Given the description of an element on the screen output the (x, y) to click on. 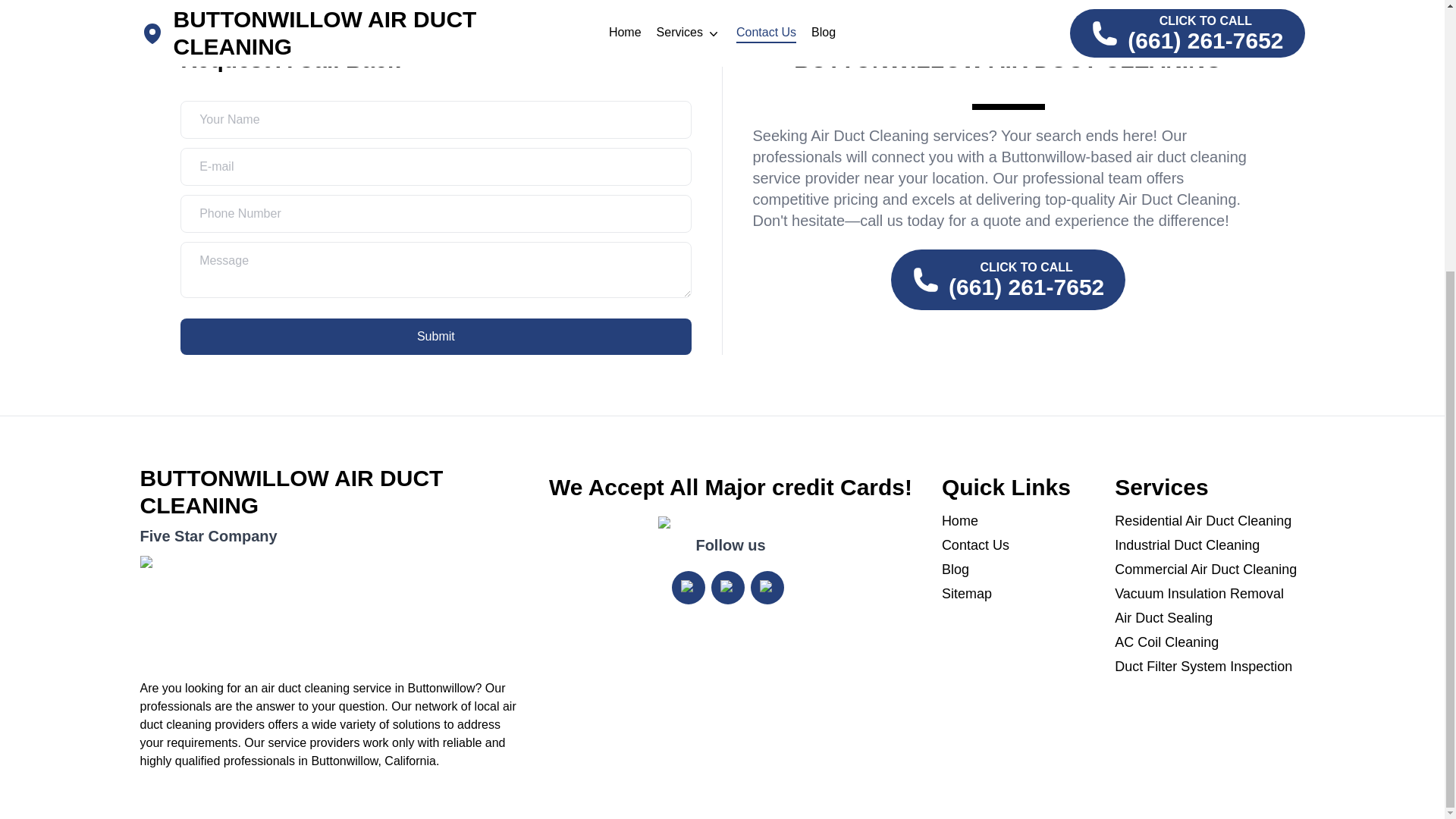
Vacuum Insulation Removal (1209, 593)
Click to call us (1008, 279)
AC Coil Cleaning (1209, 641)
Star Set Image (329, 611)
Home (1017, 520)
Contact Us (1017, 545)
Duct Filter System Inspection (1209, 666)
Instagram icon (688, 587)
Submit (435, 336)
Industrial Duct Cleaning (1209, 545)
Instagram (687, 587)
Bank Card Image (730, 525)
Sitemap (1017, 593)
BUTTONWILLOW AIR DUCT CLEANING (329, 492)
Twitter (727, 587)
